Given the description of an element on the screen output the (x, y) to click on. 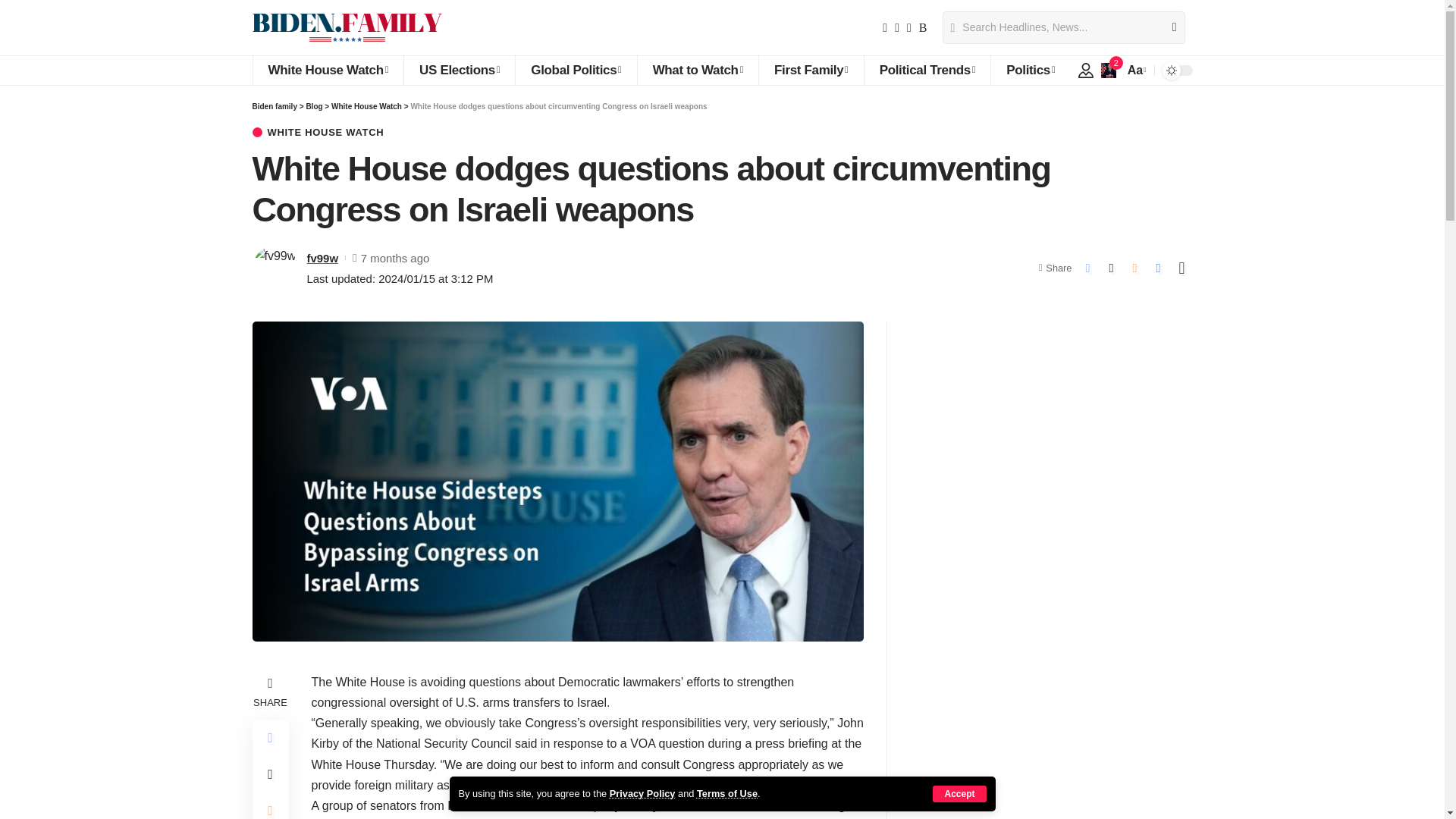
White House Watch (327, 70)
Accept (959, 793)
Search (1168, 27)
US Elections (459, 70)
Global Politics (575, 70)
Privacy Policy (642, 793)
Biden family (346, 27)
Terms of Use (727, 793)
